Given the description of an element on the screen output the (x, y) to click on. 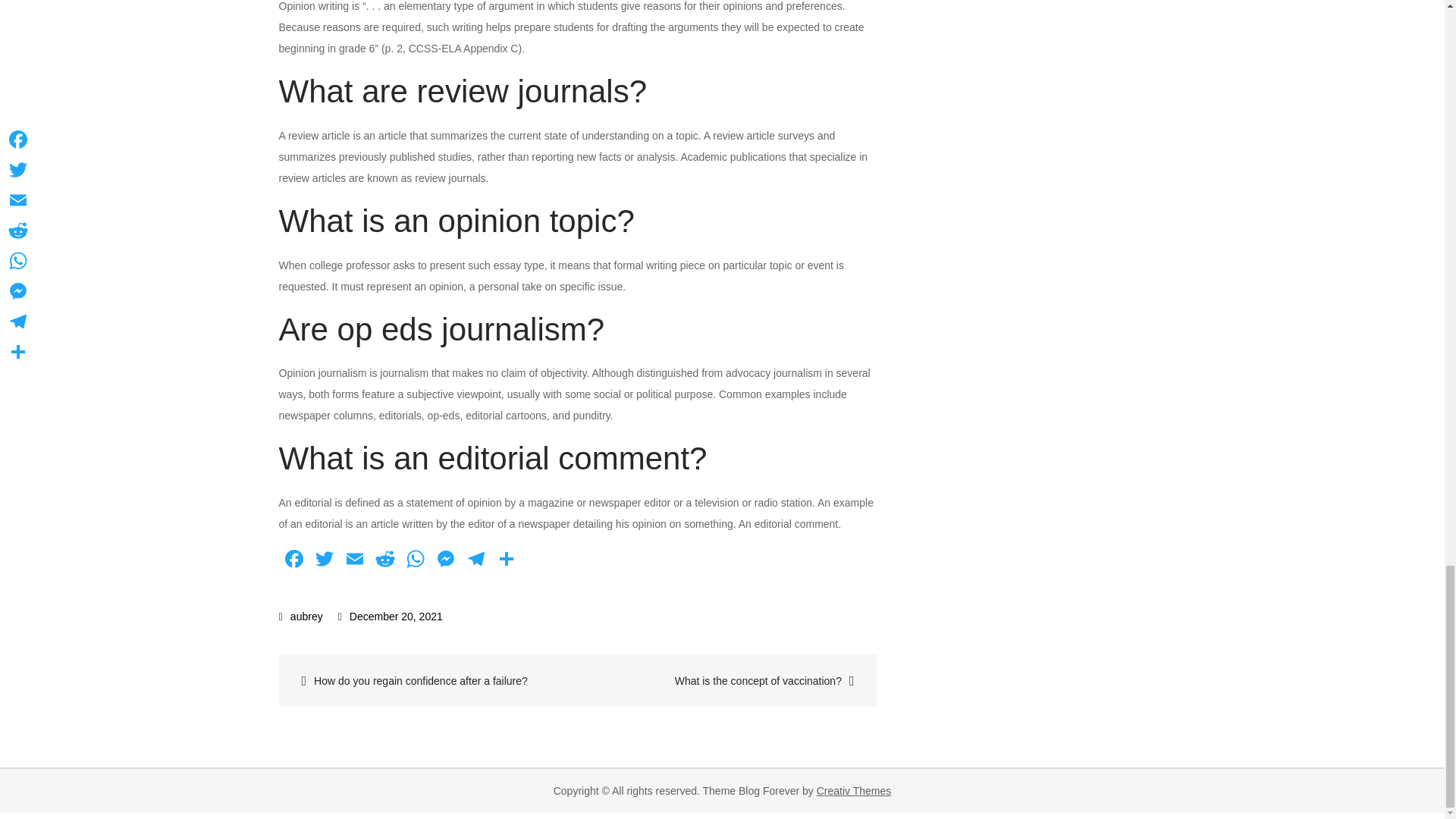
Messenger (445, 560)
aubrey (301, 616)
Facebook (293, 560)
Reddit (384, 560)
Messenger (445, 560)
Twitter (323, 560)
WhatsApp (415, 560)
Reddit (384, 560)
Email (354, 560)
Email (354, 560)
